Given the description of an element on the screen output the (x, y) to click on. 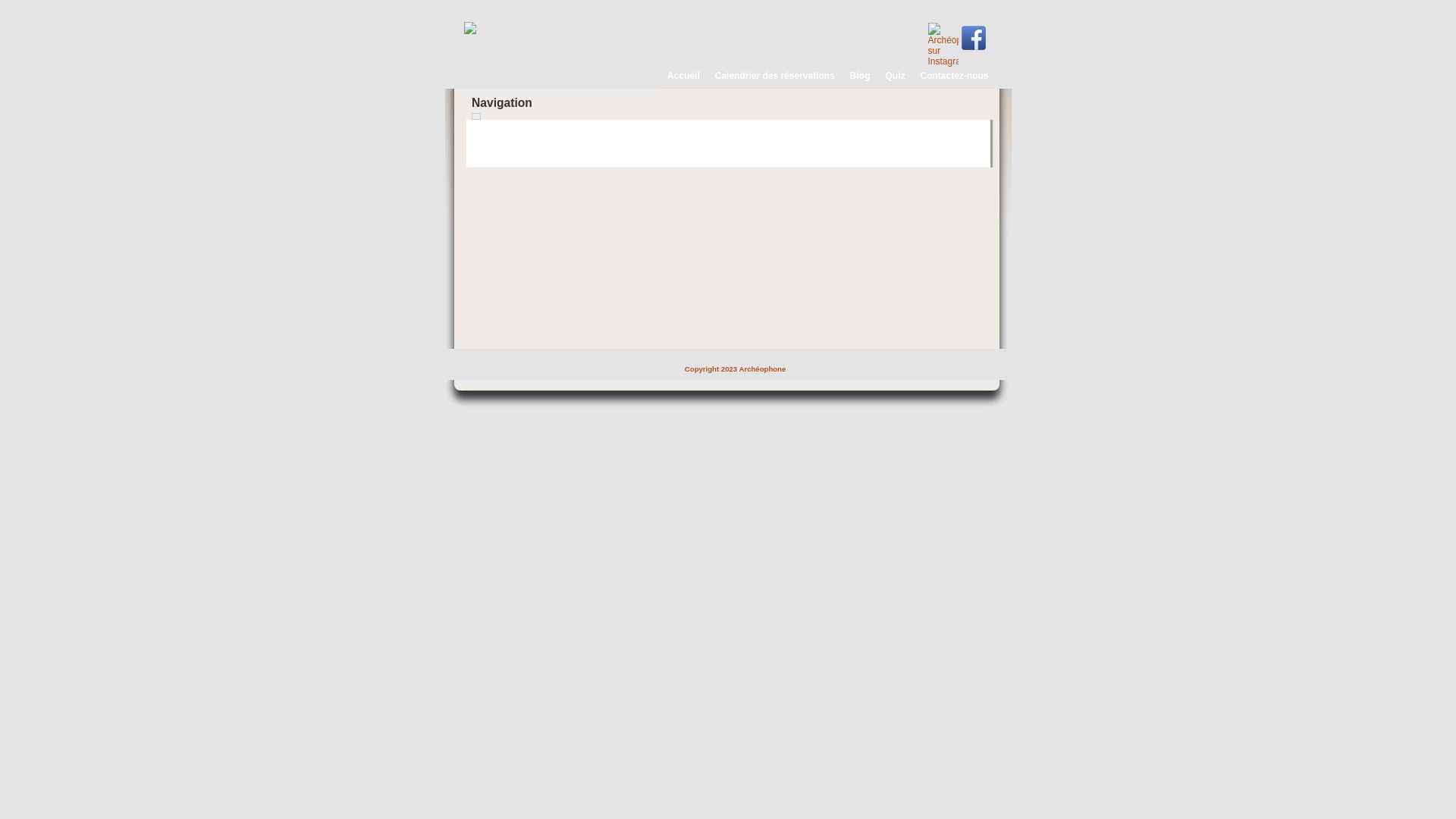
Blog Element type: text (858, 72)
Contactez-nous Element type: text (952, 72)
Accueil Element type: text (681, 72)
Quiz Element type: text (893, 72)
